Given the description of an element on the screen output the (x, y) to click on. 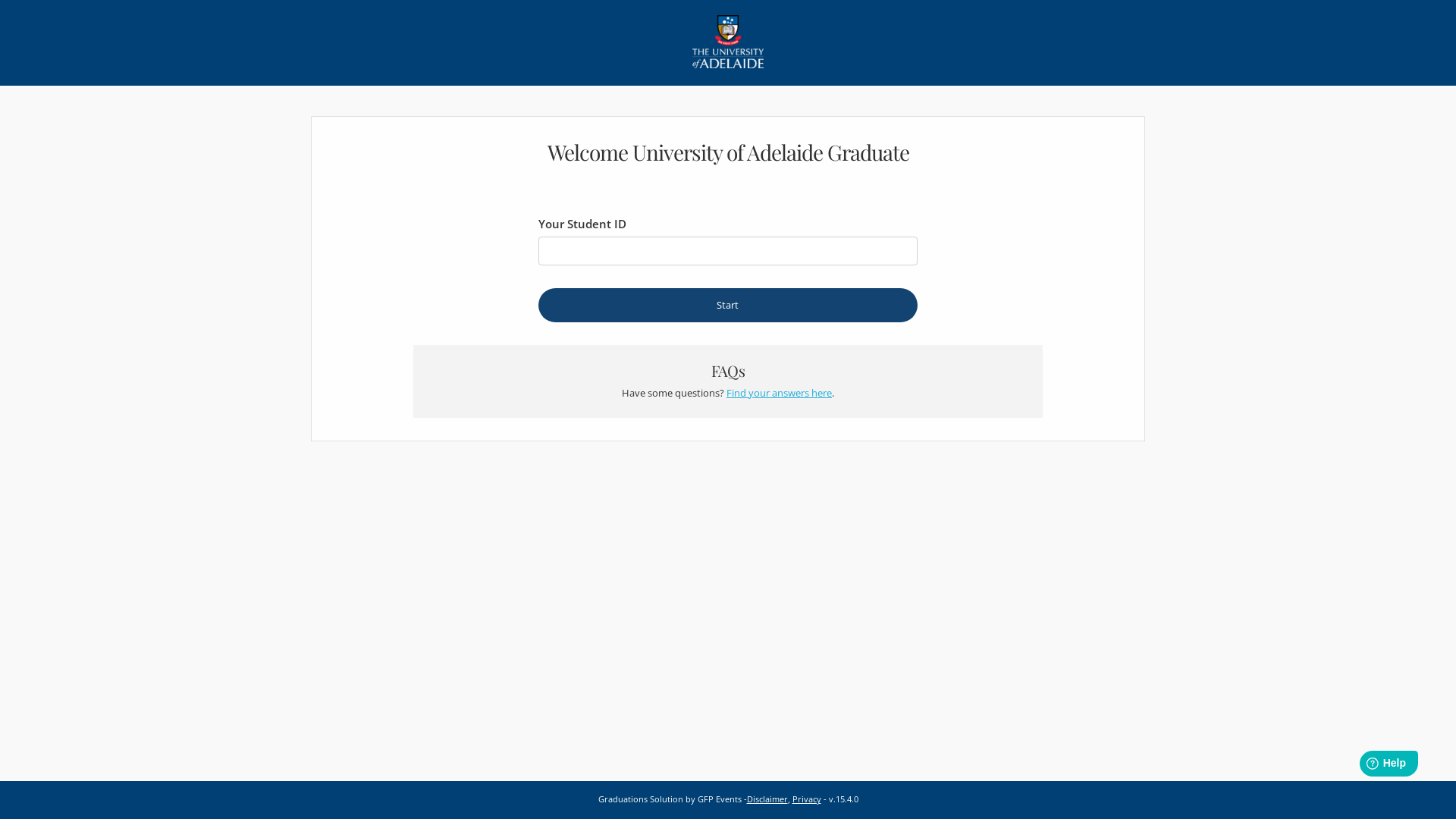
Find your answers here Element type: text (778, 392)
Start Element type: text (727, 305)
Disclaimer Element type: text (766, 798)
Privacy Element type: text (805, 798)
